Given the description of an element on the screen output the (x, y) to click on. 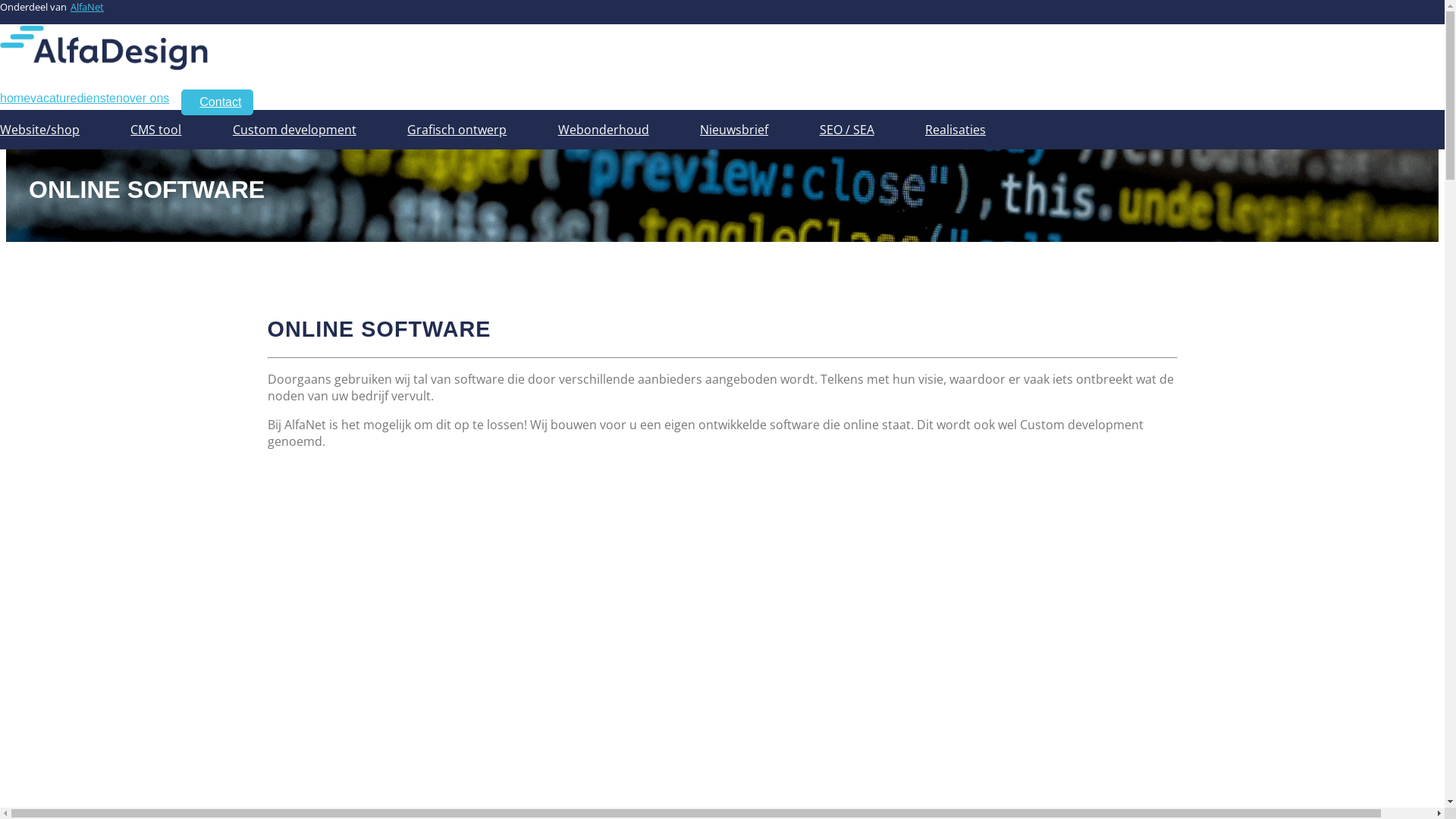
Grafisch ontwerp Element type: text (456, 129)
diensten Element type: text (99, 97)
Nieuwsbrief Element type: text (733, 129)
Webonderhoud Element type: text (603, 129)
Website/shop Element type: text (39, 129)
SEO / SEA Element type: text (846, 129)
Realisaties Element type: text (955, 129)
CMS tool Element type: text (155, 129)
AlfaNet Element type: text (86, 6)
home Element type: text (15, 97)
over ons Element type: text (145, 97)
Custom development Element type: text (294, 129)
Contact Element type: text (217, 102)
vacature Element type: text (53, 97)
